Given the description of an element on the screen output the (x, y) to click on. 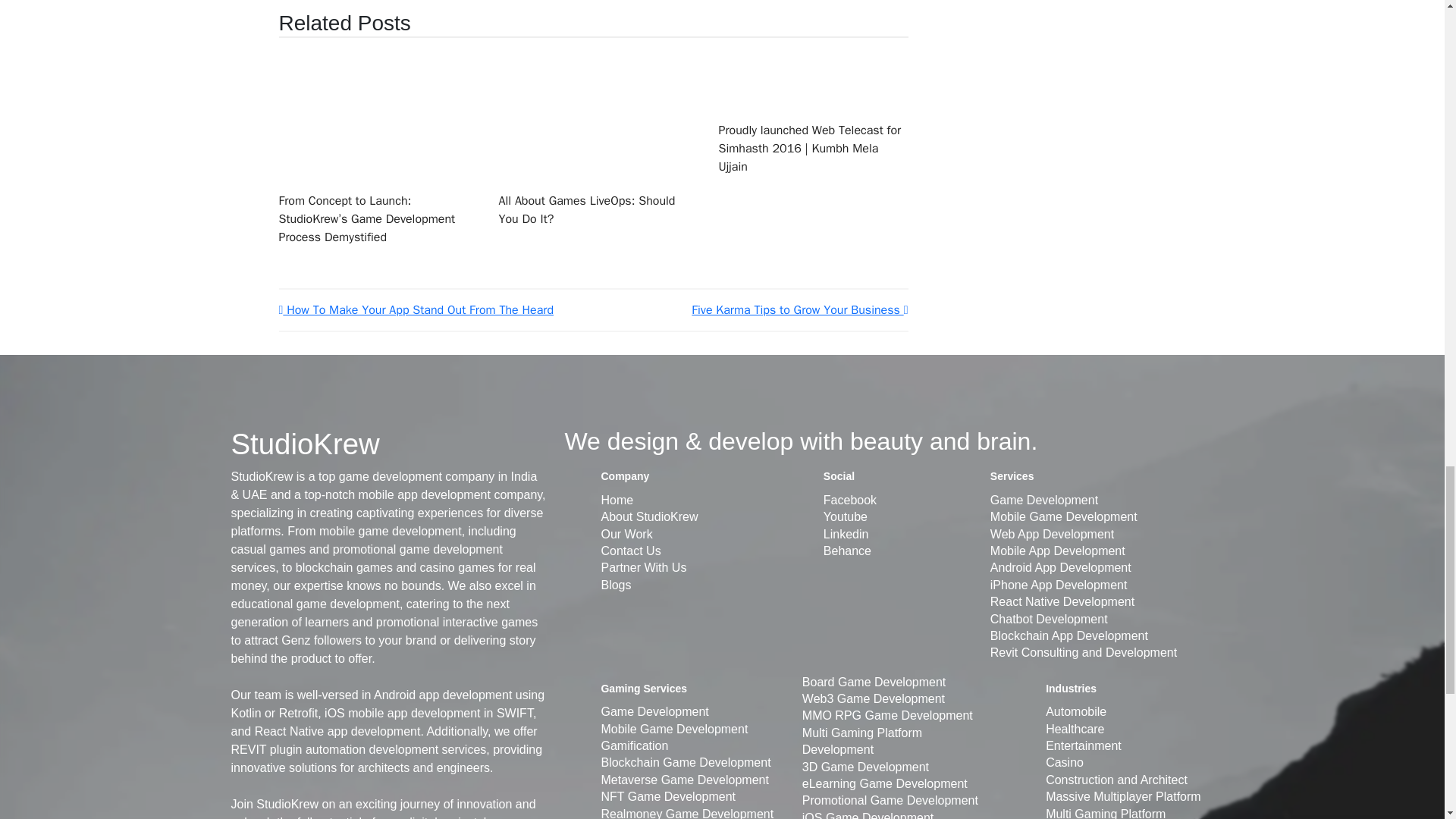
All About Games LiveOps: Should You Do It? (587, 209)
Five Karma Tips to Grow Your Business (799, 309)
How To Make Your App Stand Out From The Heard (416, 309)
